Given the description of an element on the screen output the (x, y) to click on. 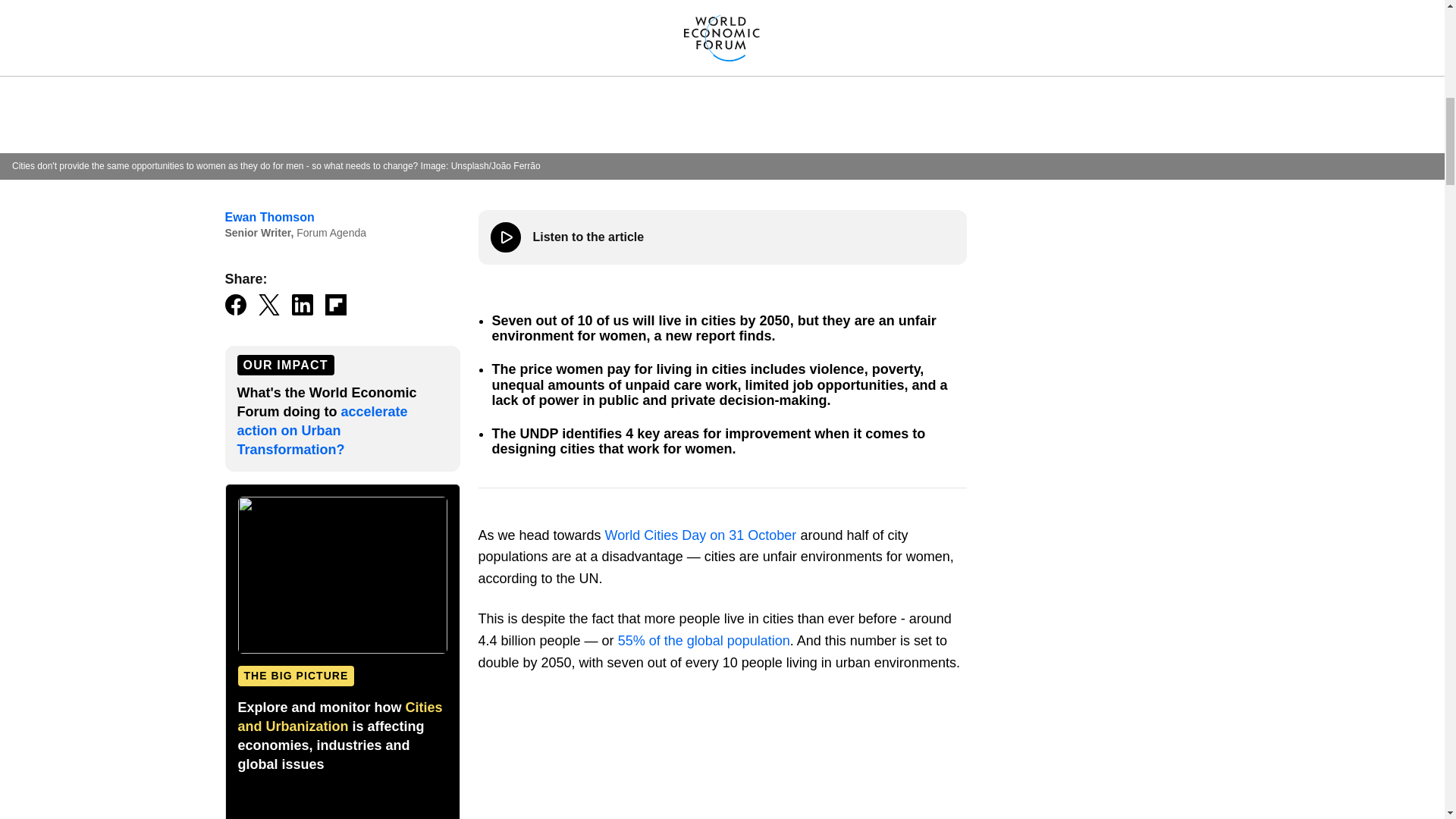
Ewan Thomson (269, 216)
World Cities Day on 31 October (700, 534)
